Given the description of an element on the screen output the (x, y) to click on. 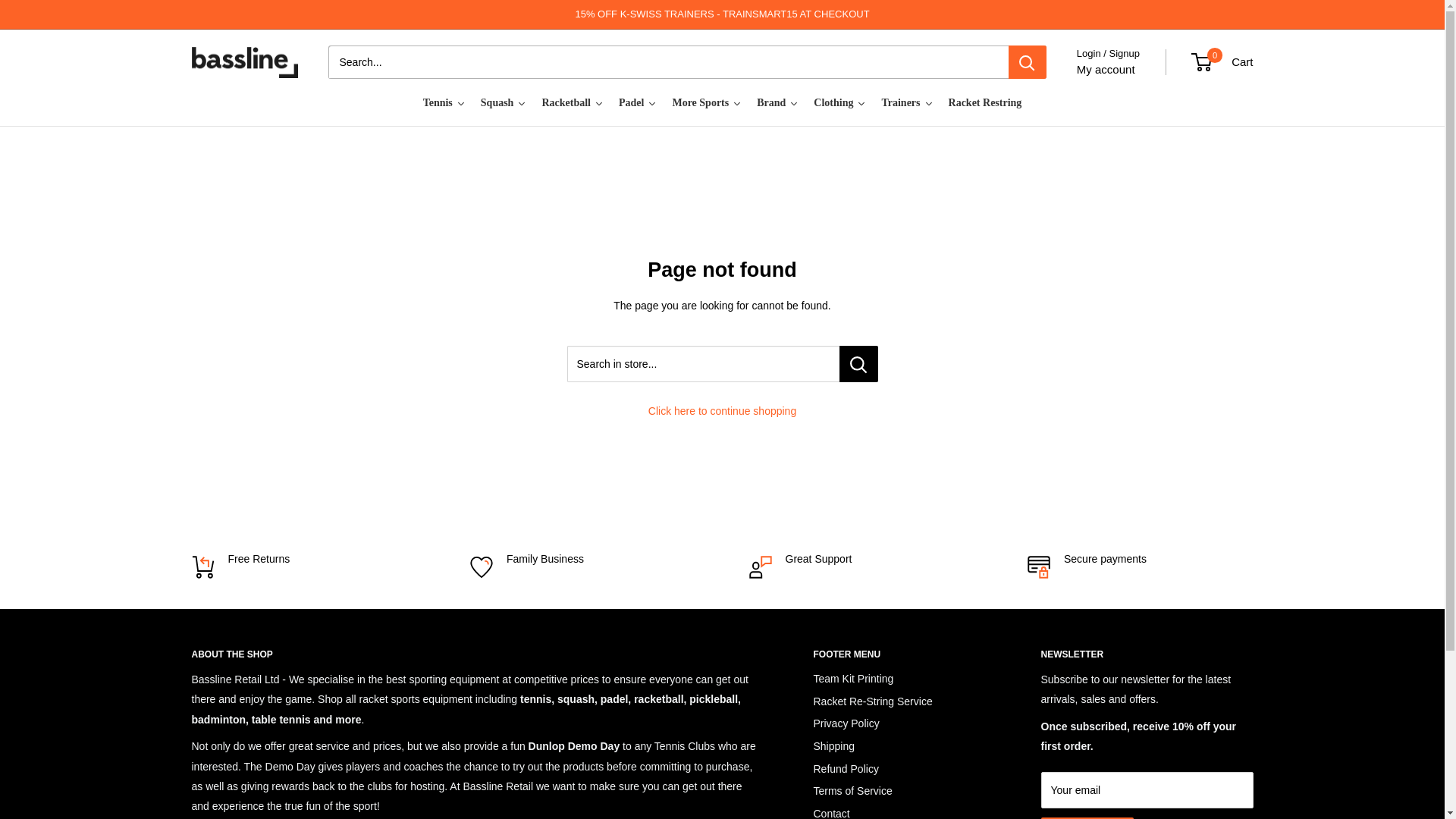
Racketball (572, 103)
Clothing (839, 103)
Padel (1222, 61)
More Sports (637, 103)
Brand (706, 103)
Squash (777, 103)
Shopify online store chat (503, 103)
Tennis (1404, 781)
My account (443, 103)
